Given the description of an element on the screen output the (x, y) to click on. 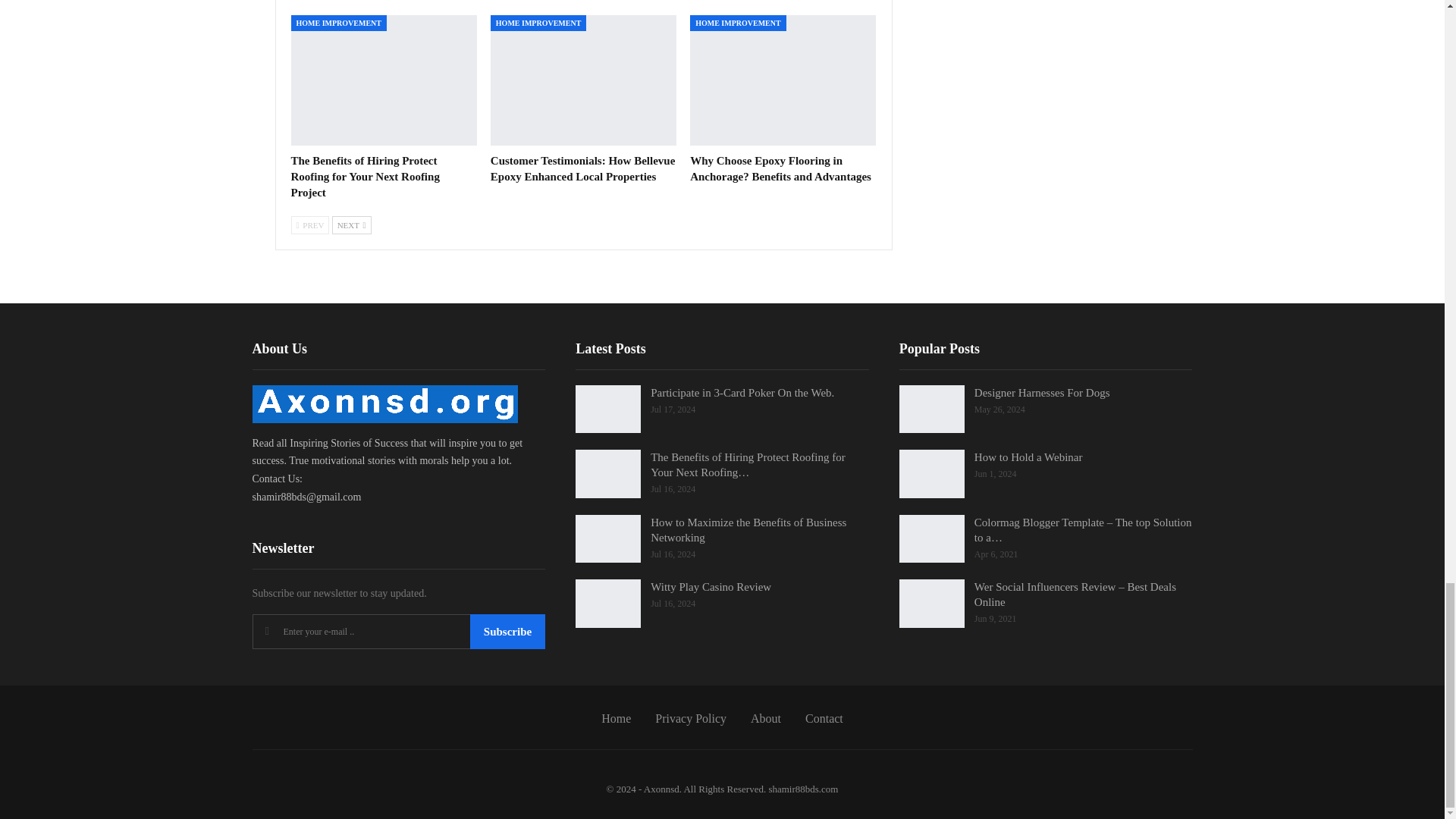
Previous (310, 225)
